Given the description of an element on the screen output the (x, y) to click on. 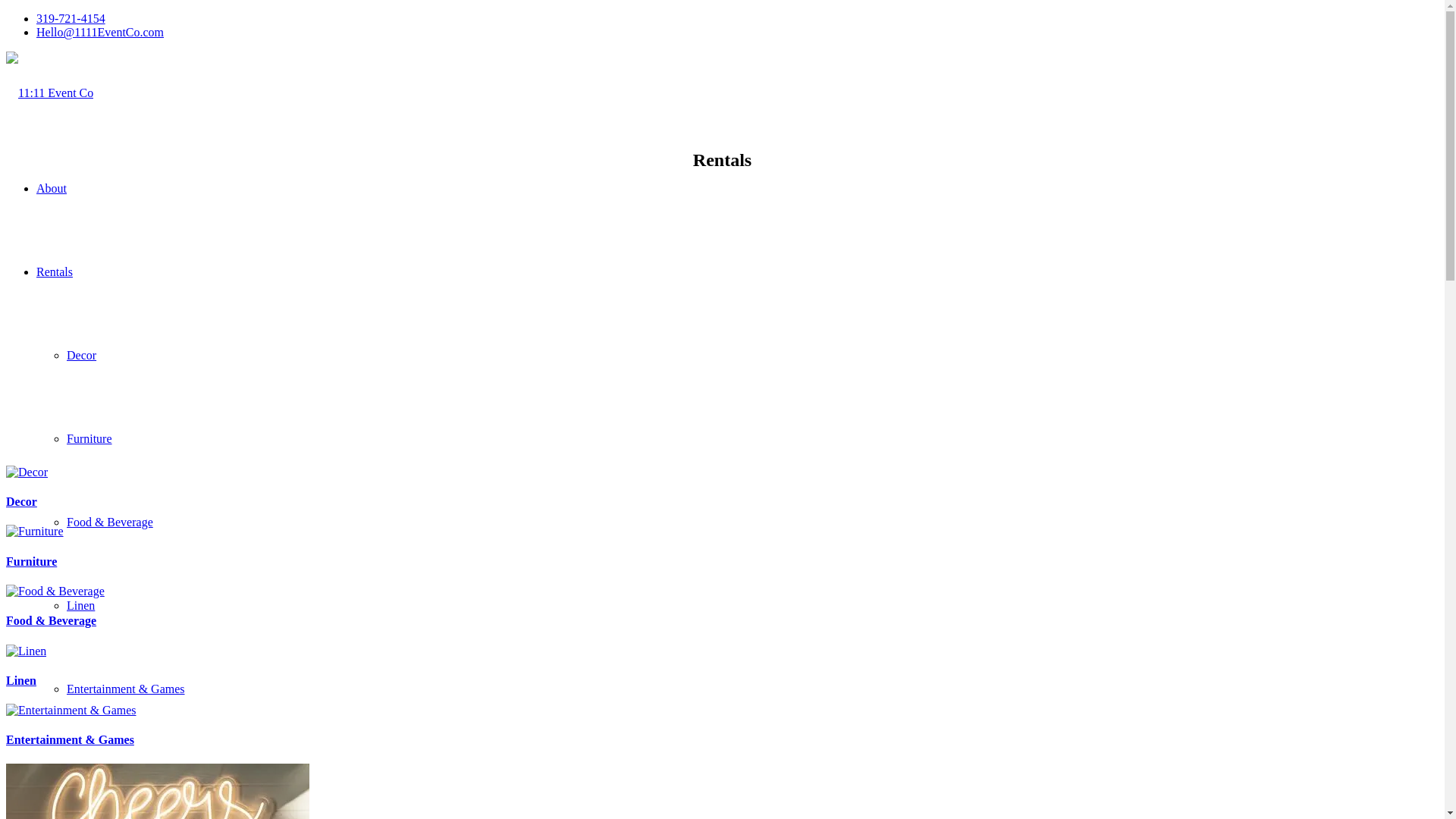
New Element type: text (77, 771)
Decor Element type: text (81, 354)
Hello@1111EventCo.com Element type: text (99, 31)
Decor Element type: text (21, 501)
Food & Beverage Element type: text (51, 620)
About Element type: text (51, 188)
Furniture Element type: text (89, 438)
319-721-4154 Element type: text (70, 18)
Entertainment & Games Element type: text (70, 739)
Food & Beverage Element type: text (109, 521)
Linen Element type: text (21, 680)
Furniture Element type: text (31, 561)
Entertainment & Games Element type: text (125, 688)
Rentals Element type: text (54, 271)
Linen Element type: text (80, 605)
